Given the description of an element on the screen output the (x, y) to click on. 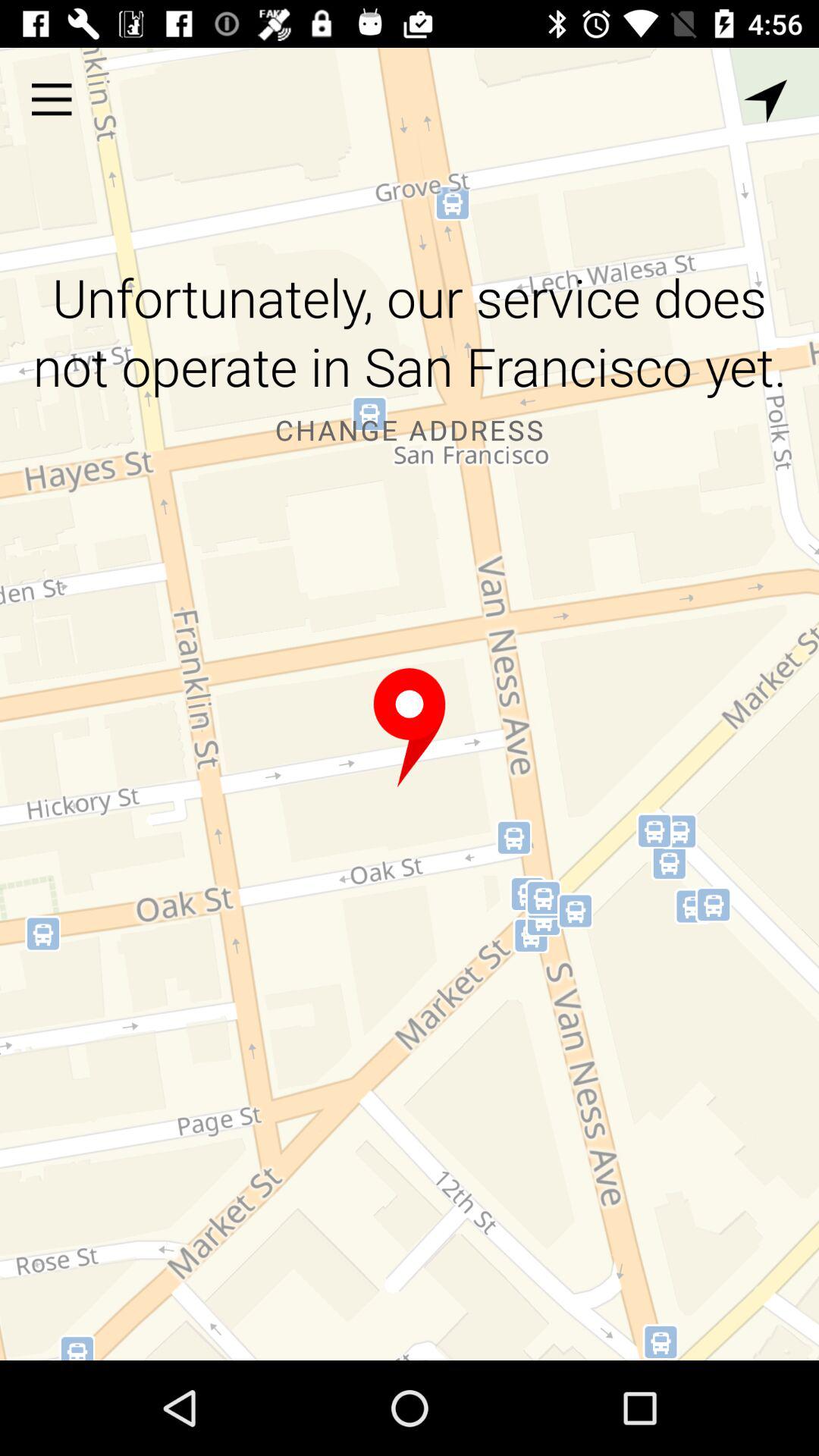
click item below the change address icon (409, 727)
